Given the description of an element on the screen output the (x, y) to click on. 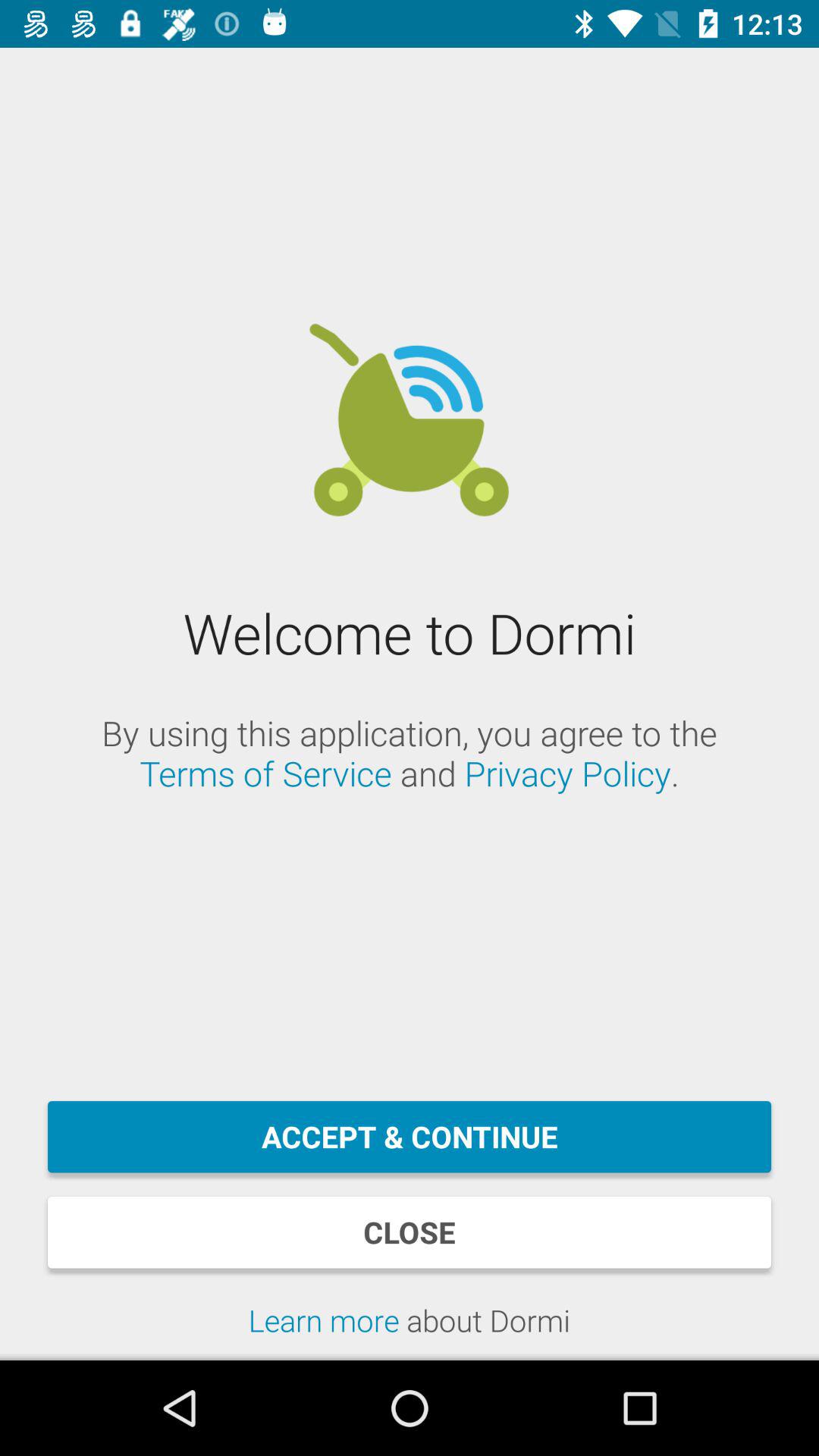
jump to the learn more about item (409, 1330)
